Given the description of an element on the screen output the (x, y) to click on. 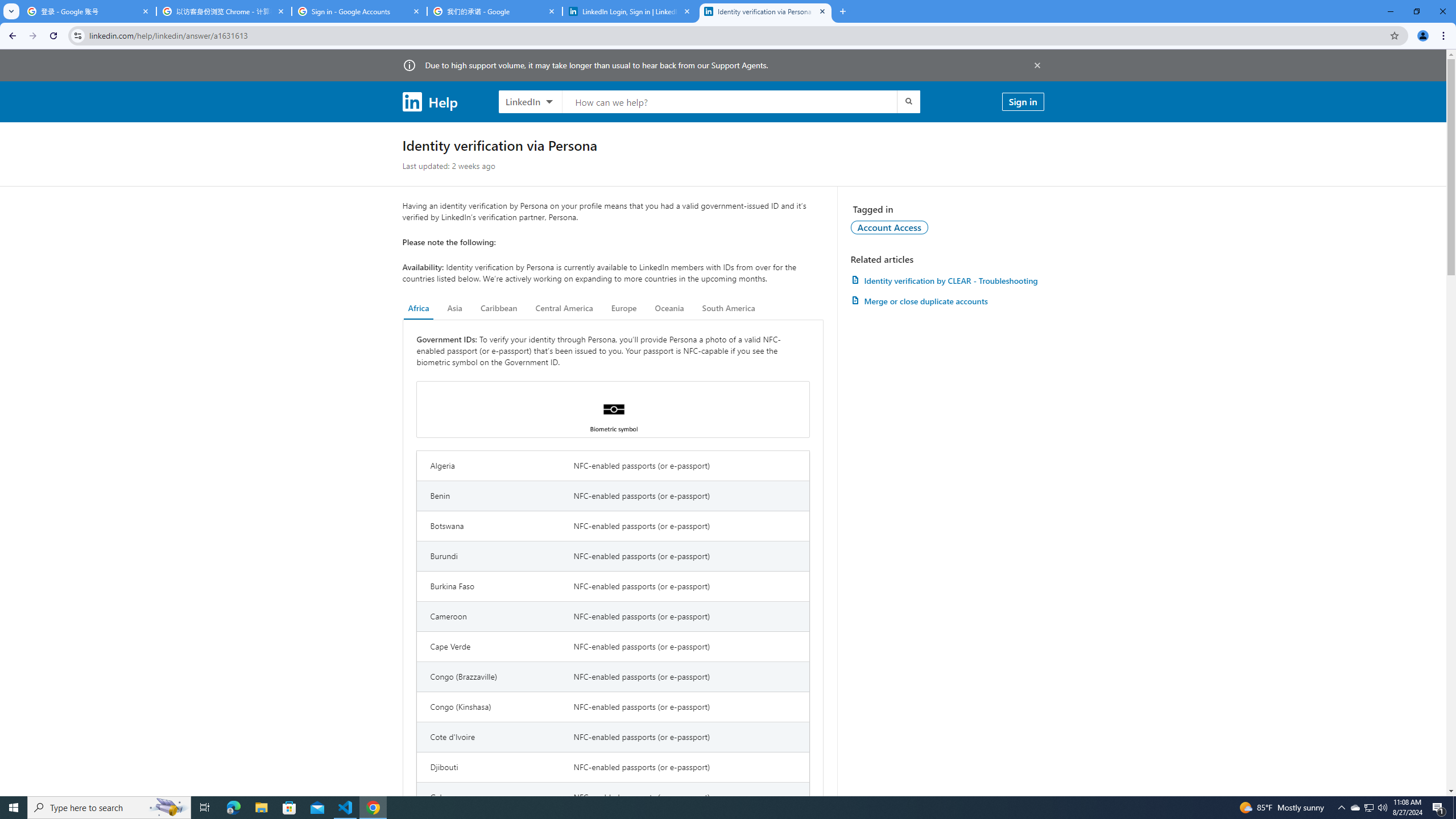
Europe (623, 308)
Merge or close duplicate accounts (946, 300)
Identity verification by CLEAR - Troubleshooting (946, 280)
Asia (454, 308)
Biometric symbol (612, 409)
Oceania (668, 308)
AutomationID: article-link-a1337200 (946, 300)
